Given the description of an element on the screen output the (x, y) to click on. 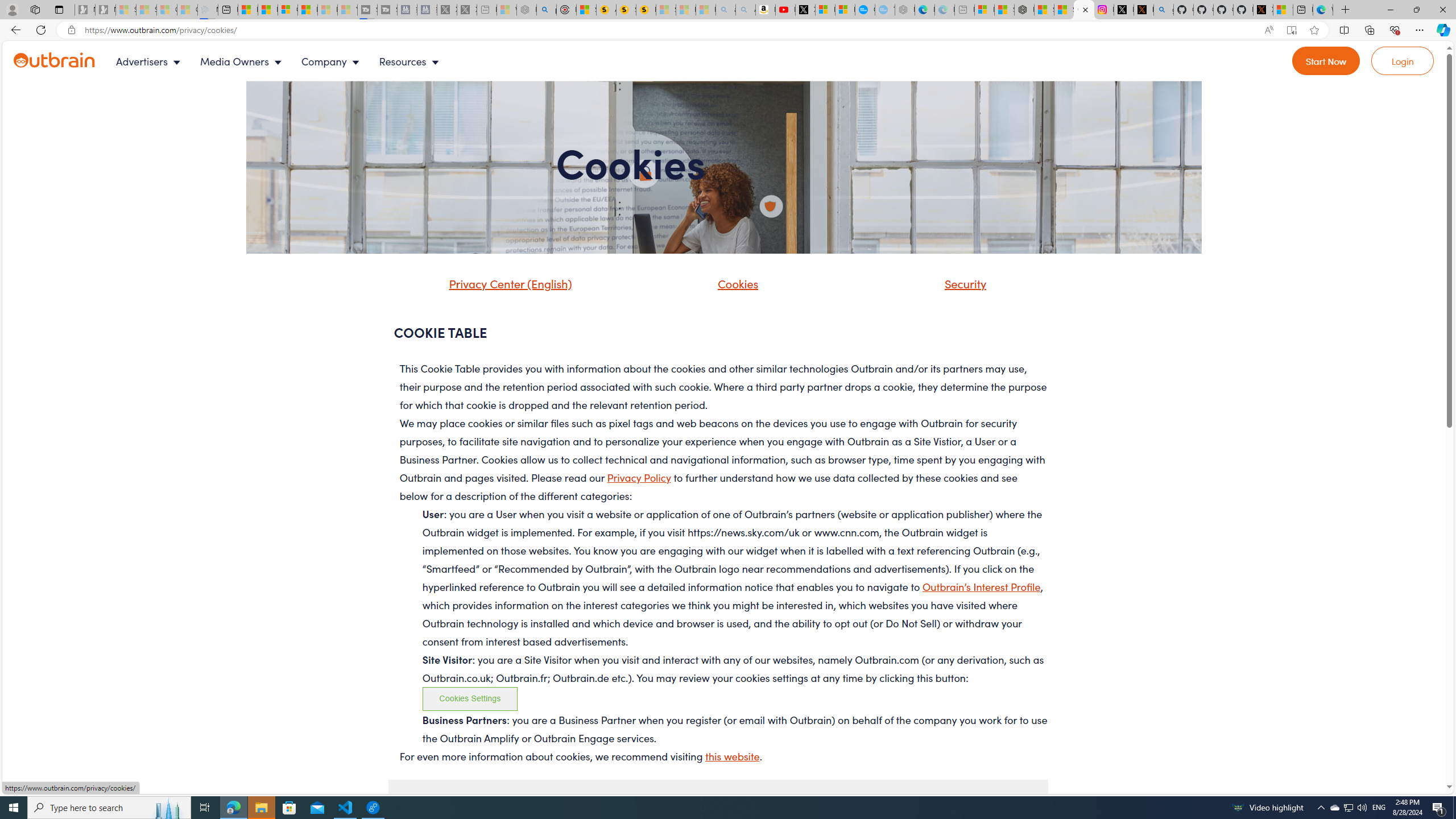
Nordace - Duffels (1024, 9)
Welcome to Microsoft Edge (1322, 9)
Shanghai, China Weather trends | Microsoft Weather (1063, 9)
Skip navigation to go to main content (34, 46)
Opinion: Op-Ed and Commentary - USA TODAY (864, 9)
Security (963, 282)
Wildlife - MSN - Sleeping (506, 9)
